Given the description of an element on the screen output the (x, y) to click on. 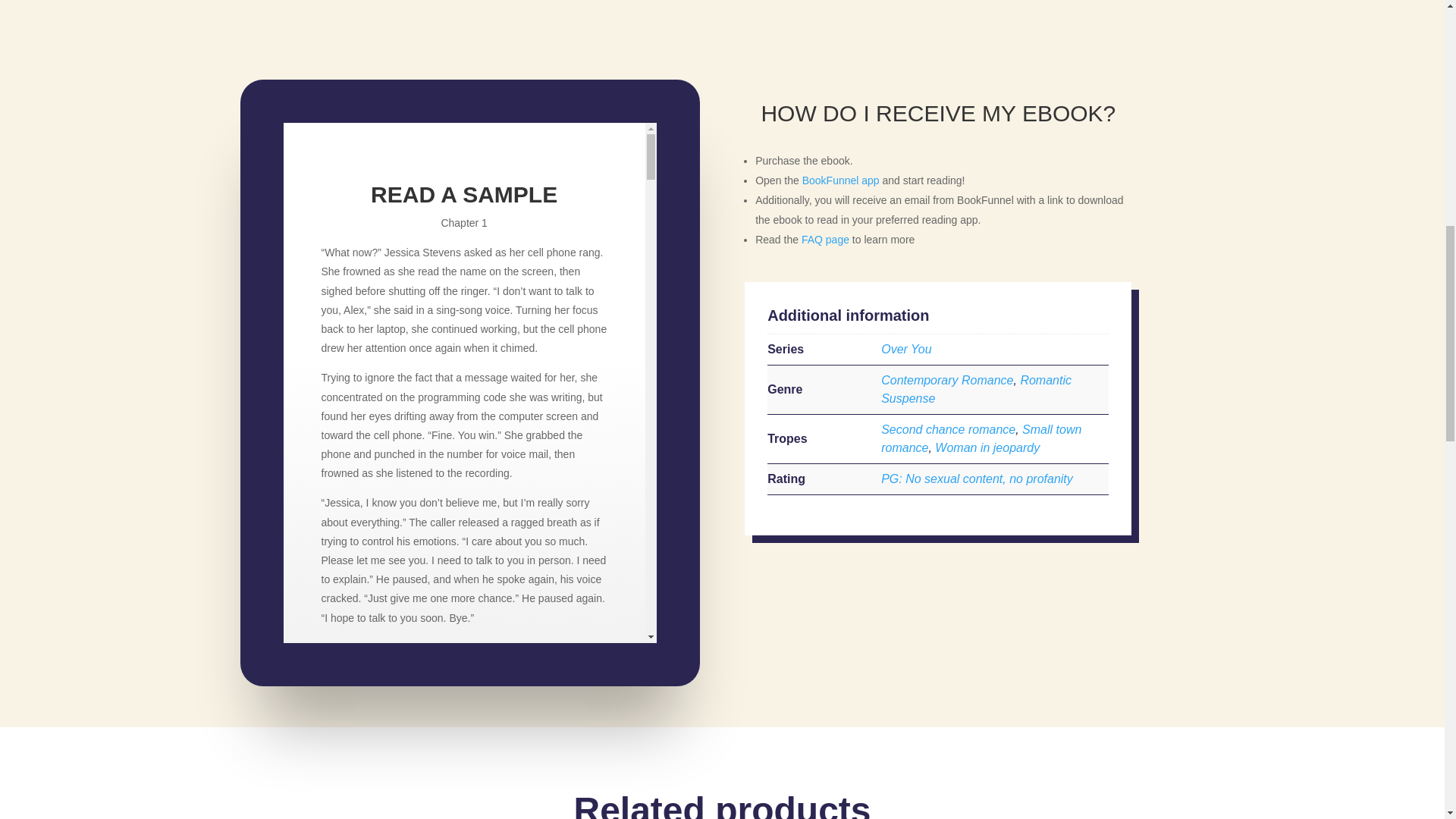
Over You (905, 349)
FAQ page (825, 239)
BookFunnel app (840, 180)
Contemporary Romance (946, 379)
Romantic Suspense (975, 388)
